Given the description of an element on the screen output the (x, y) to click on. 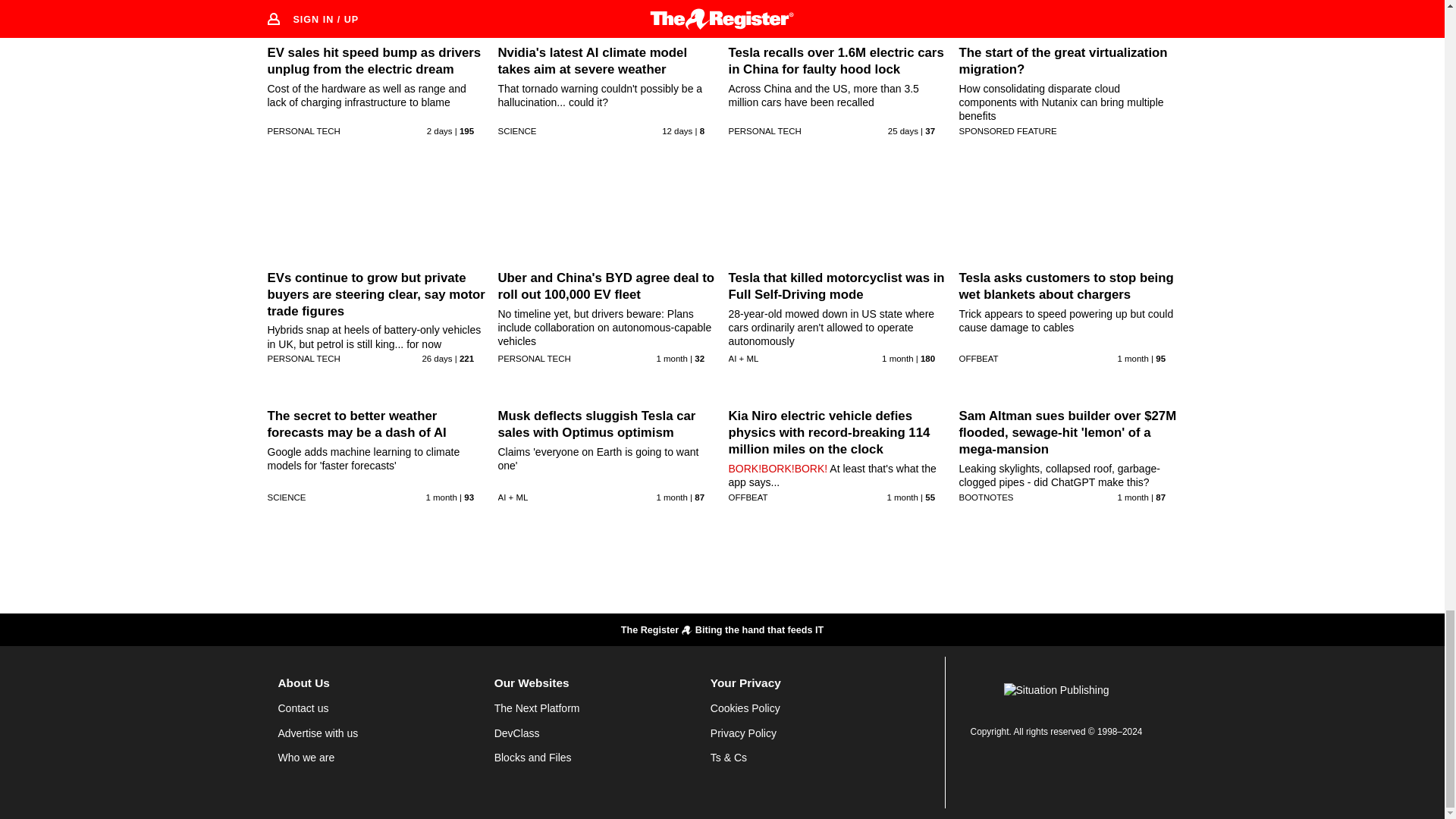
30 Aug 2024 11:54 (439, 130)
7 Aug 2024 16:15 (903, 130)
29 Jul 2024 17:50 (1132, 358)
31 Jul 2024 22:47 (897, 358)
1 Aug 2024 14:2 (671, 358)
6 Aug 2024 10:42 (436, 358)
19 Aug 2024 21:10 (677, 130)
